Given the description of an element on the screen output the (x, y) to click on. 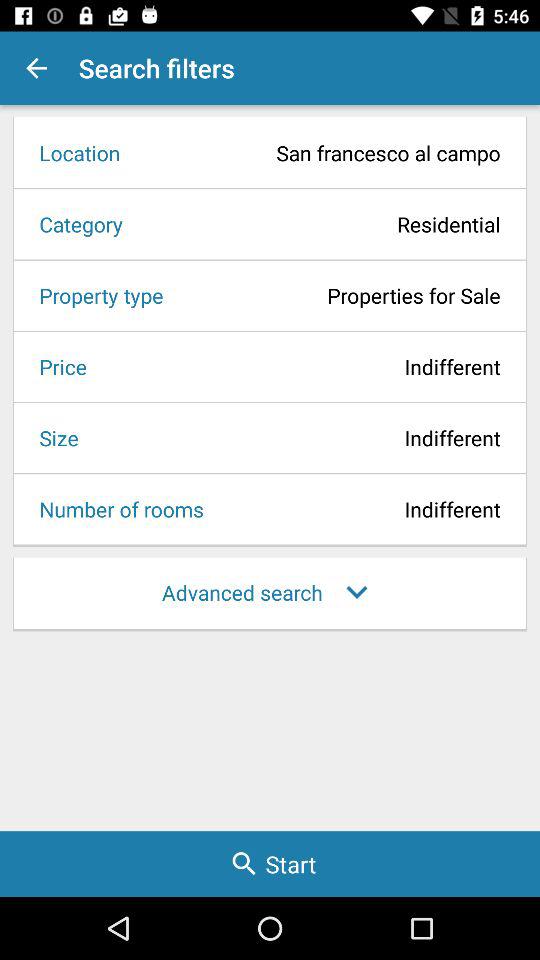
flip until the number of rooms icon (115, 509)
